Given the description of an element on the screen output the (x, y) to click on. 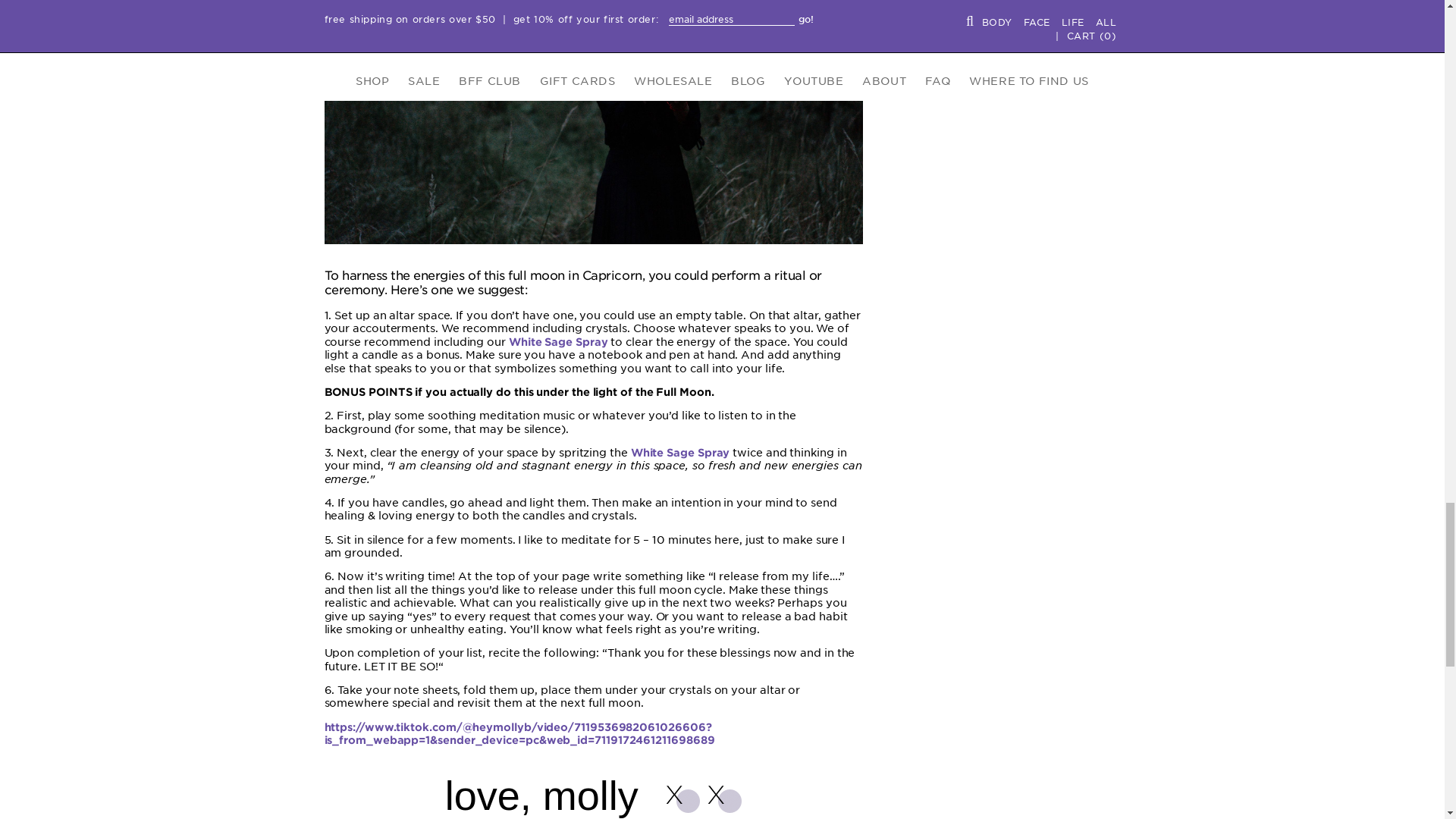
White Sage Spray (680, 452)
White Sage Spray (558, 341)
